Given the description of an element on the screen output the (x, y) to click on. 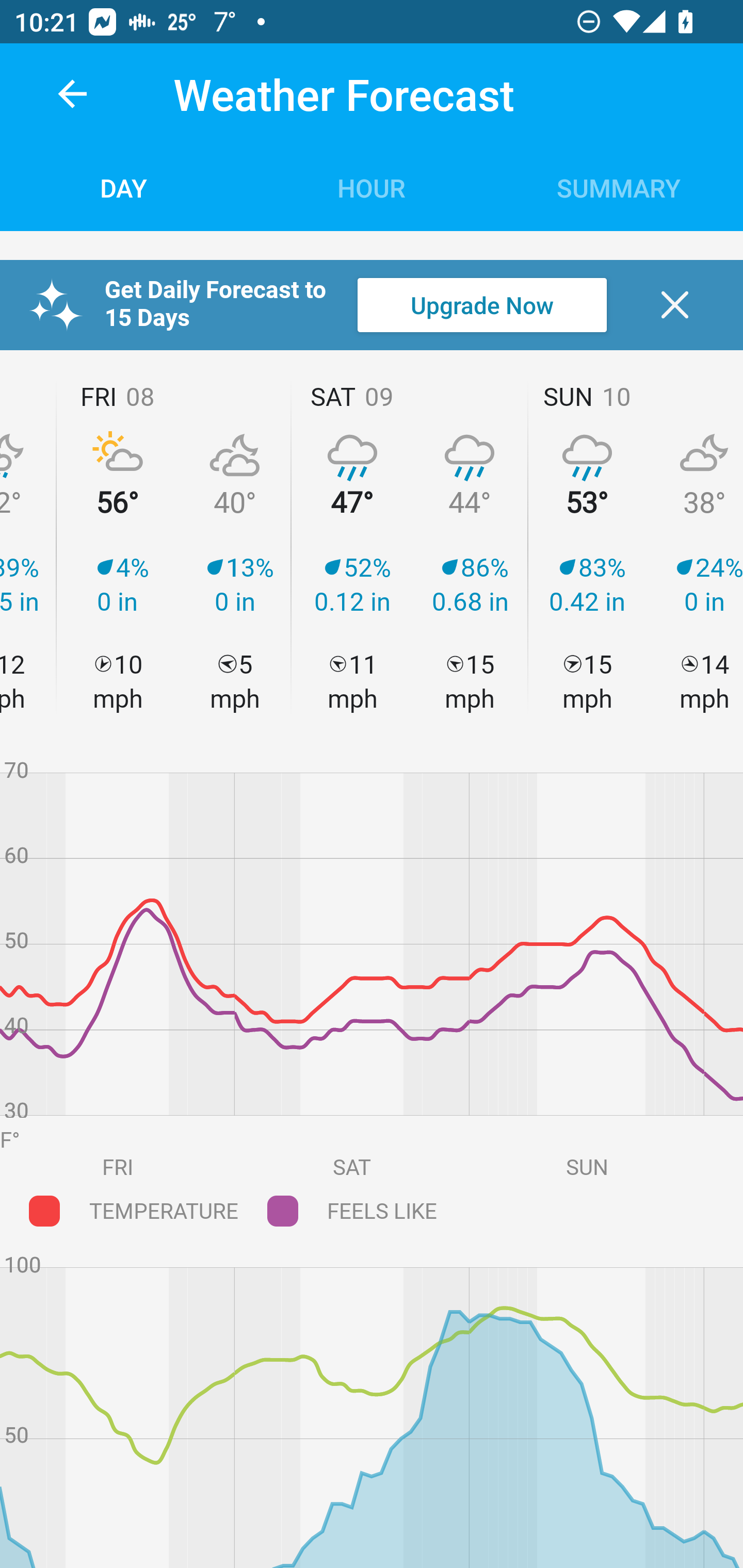
back (71, 93)
Hour Tab HOUR (371, 187)
Summary Tab SUMMARY (619, 187)
Upgrade Now (482, 304)
